Given the description of an element on the screen output the (x, y) to click on. 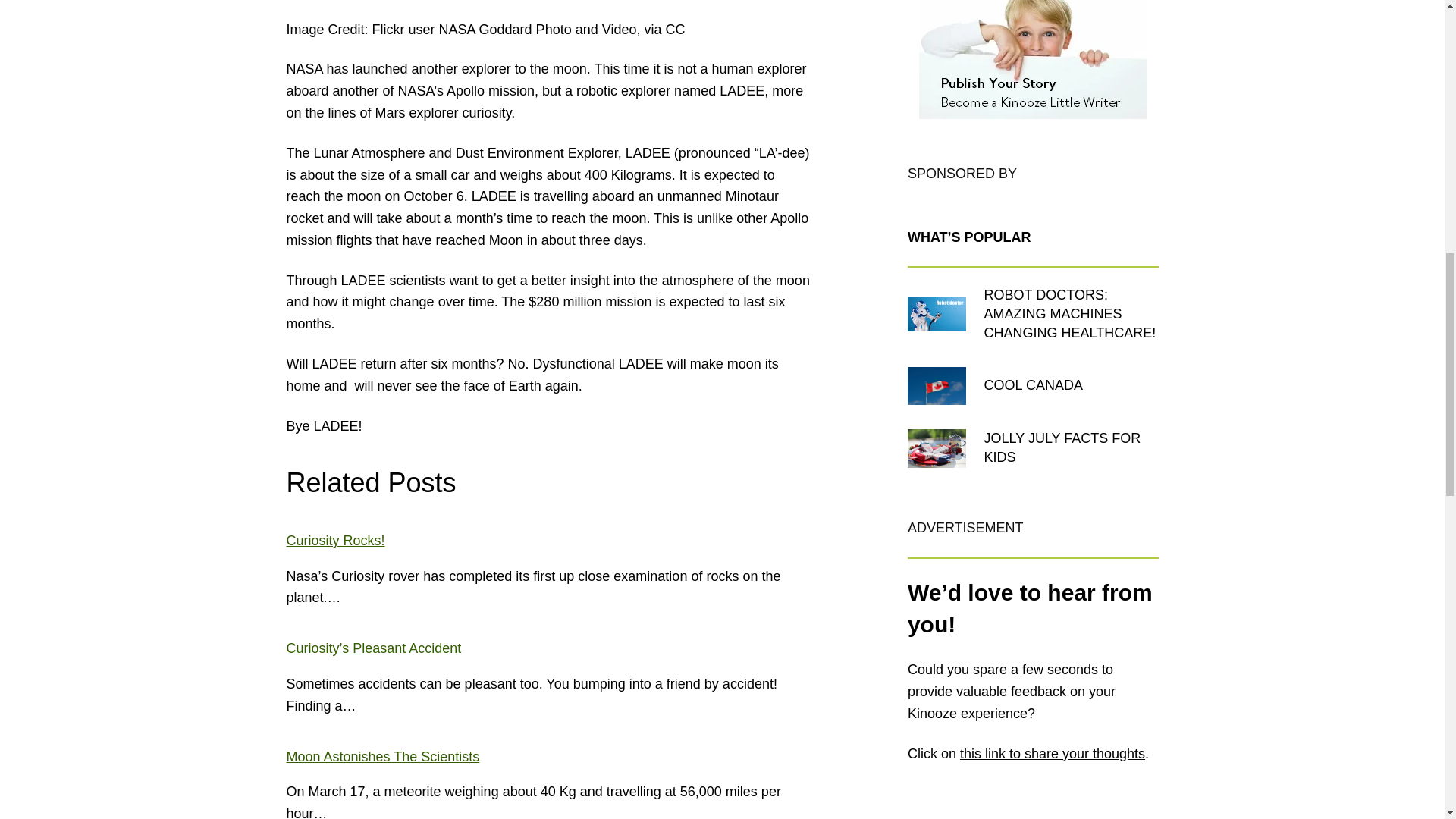
COOL CANADA (1033, 384)
Curiosity Rocks! (335, 540)
JOLLY JULY FACTS FOR KIDS (1071, 447)
ROBOT DOCTORS: AMAZING MACHINES CHANGING HEALTHCARE! (1071, 314)
Moon Astonishes The Scientists (383, 756)
this link to share your thoughts (1051, 753)
